Given the description of an element on the screen output the (x, y) to click on. 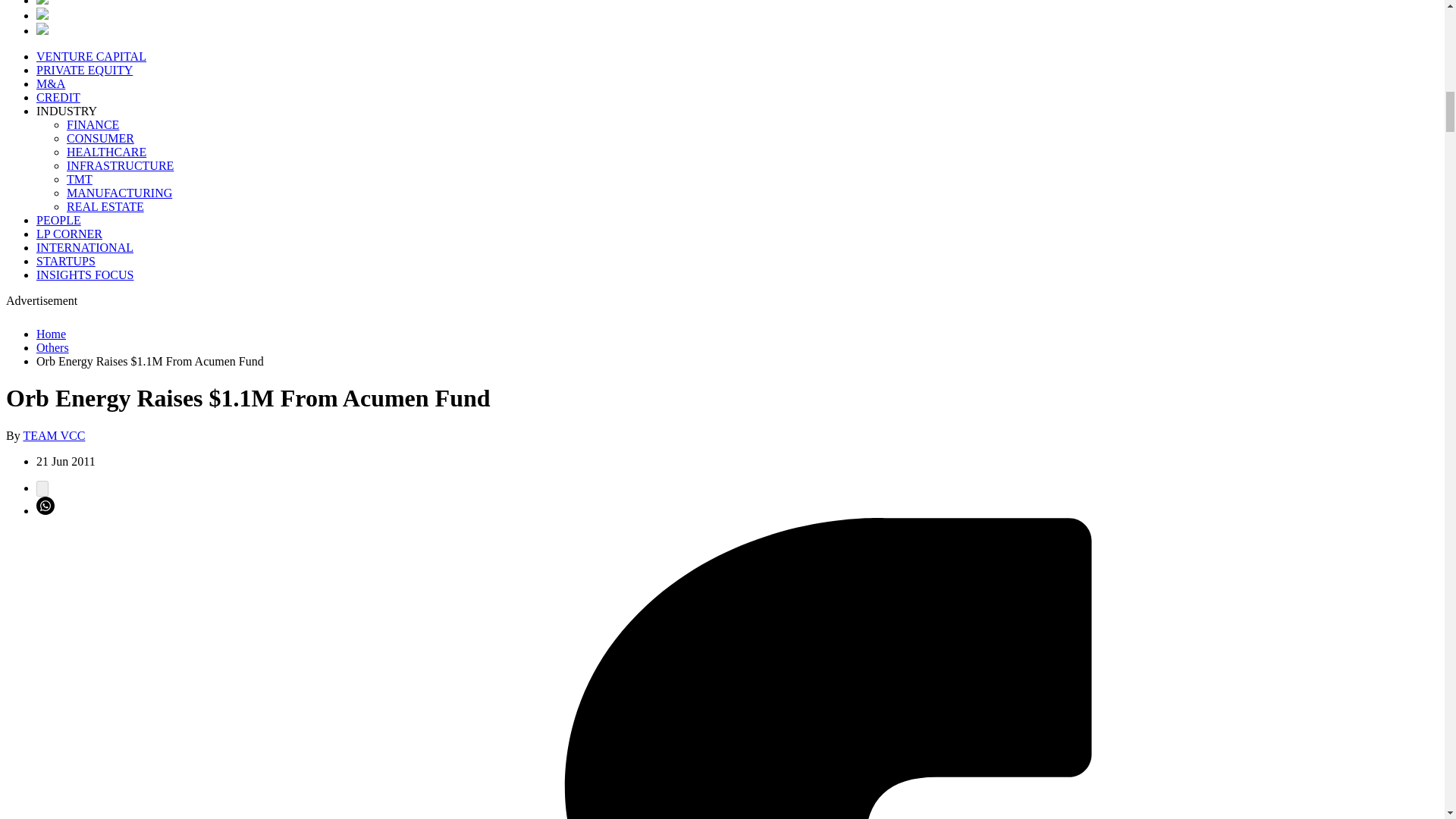
INSIGHTS FOCUS (84, 274)
HEALTHCARE (106, 151)
CONSUMER (99, 137)
Others (52, 347)
MANUFACTURING (118, 192)
VENTURE CAPITAL (91, 56)
PRIVATE EQUITY (84, 69)
TMT (79, 178)
FINANCE (92, 124)
PEOPLE (58, 219)
